Given the description of an element on the screen output the (x, y) to click on. 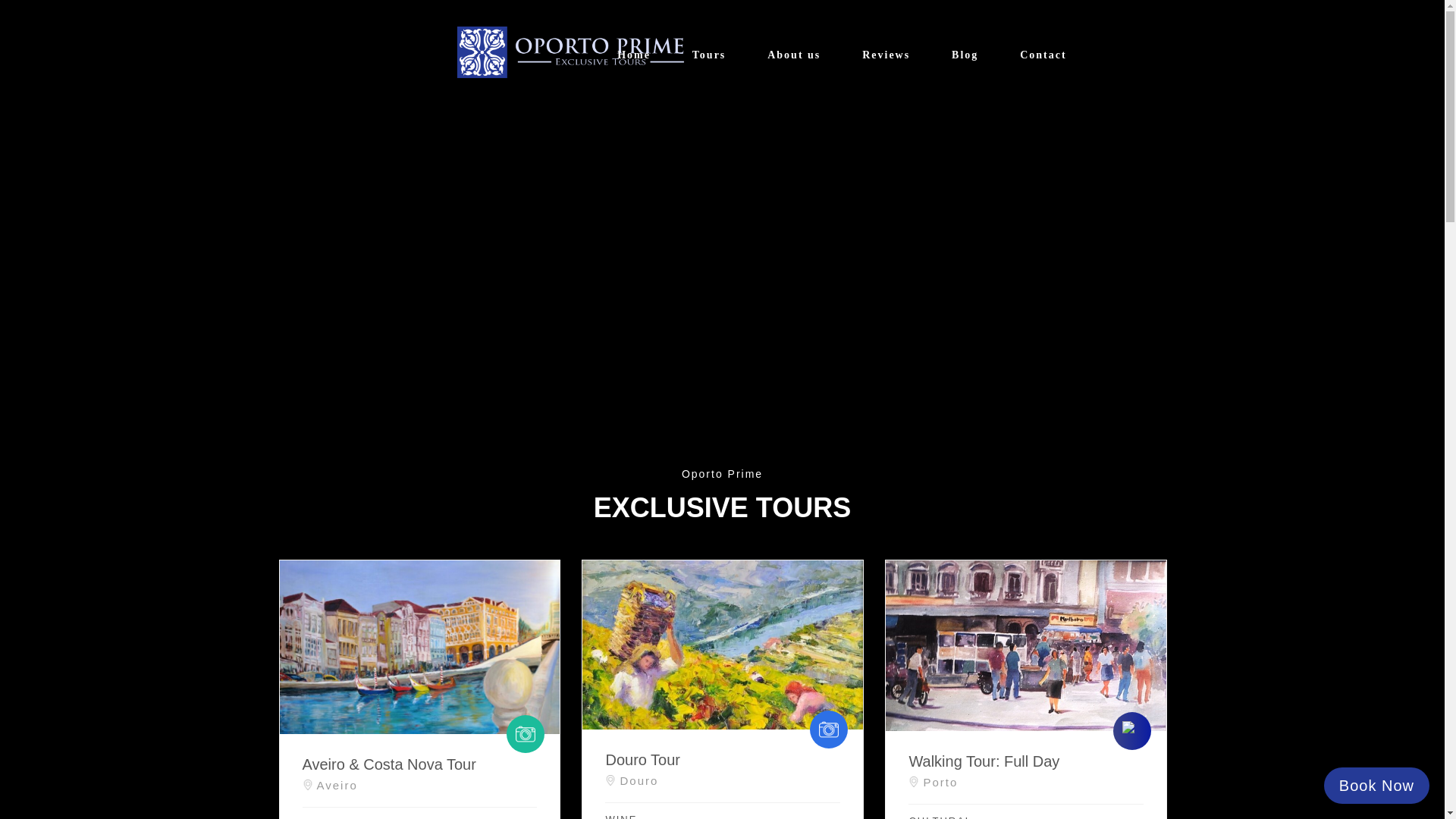
Home (633, 55)
Contact (1033, 55)
Douro Tour (722, 759)
Aveiro (419, 781)
WINE (663, 816)
Douro (722, 776)
Walking Tour: Full Day (1025, 761)
Blog (965, 55)
About us (794, 55)
Tours (708, 55)
Reviews (885, 55)
CULTURAL (967, 817)
Porto (1025, 778)
